Given the description of an element on the screen output the (x, y) to click on. 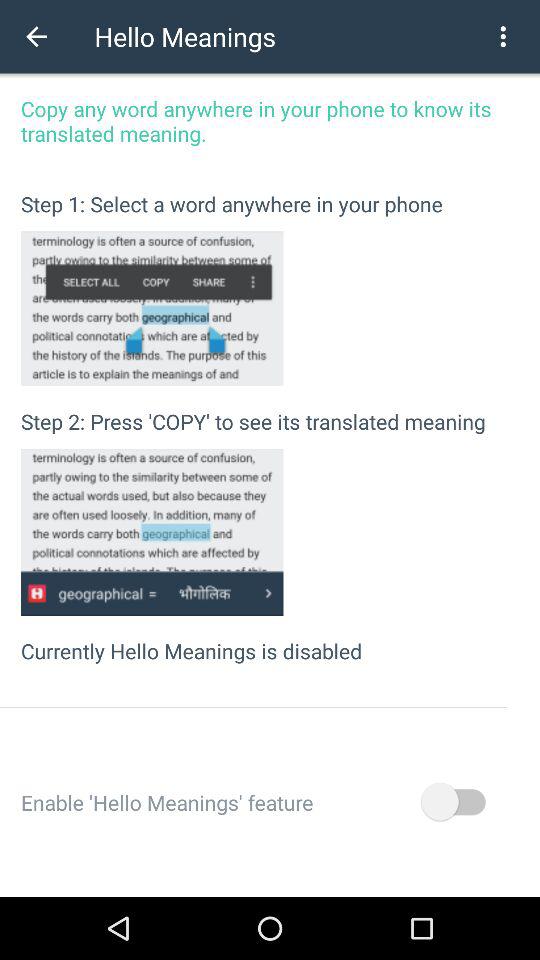
launch the item to the right of hello meanings app (503, 36)
